Given the description of an element on the screen output the (x, y) to click on. 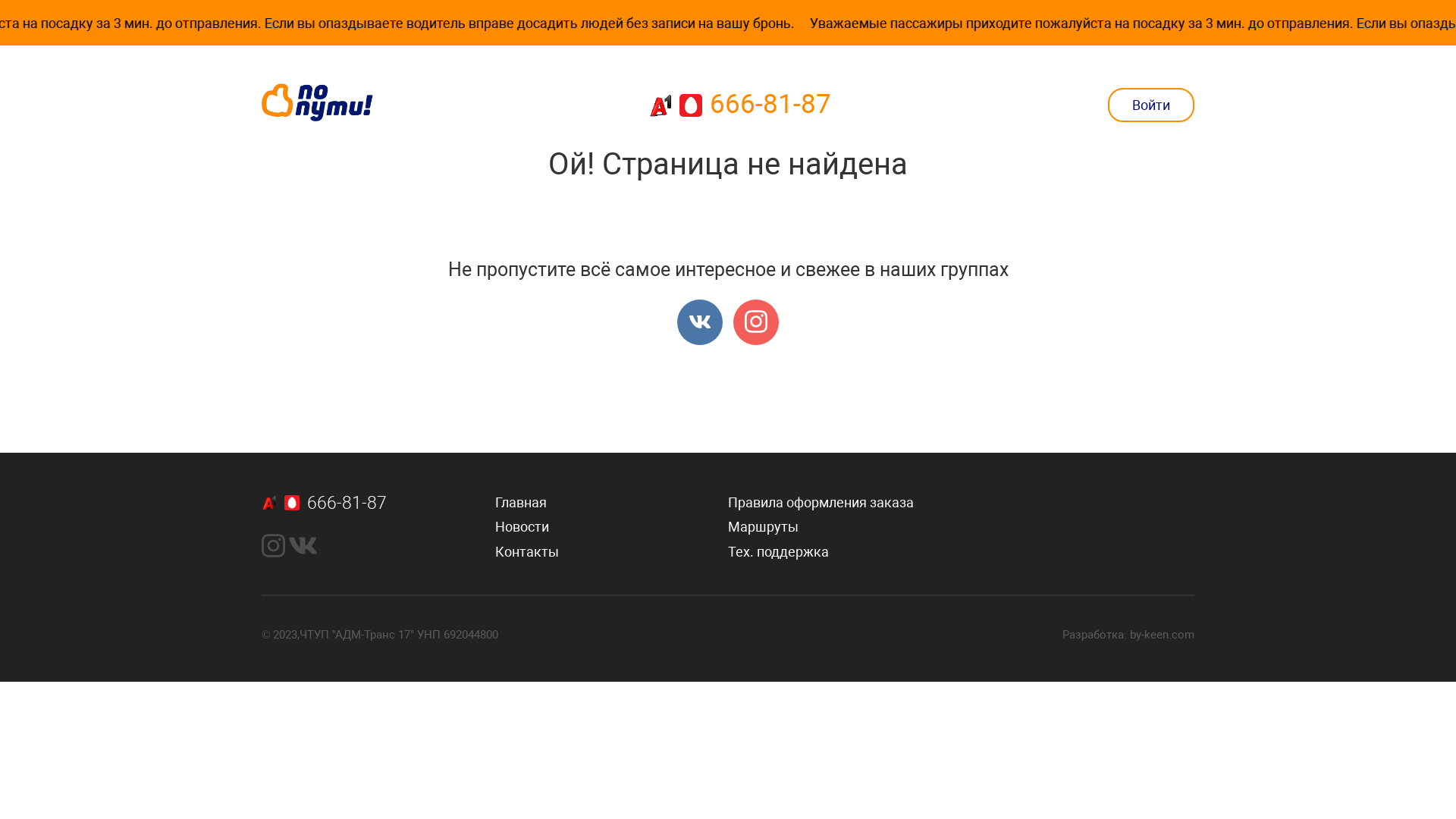
666-81-87 Element type: text (740, 104)
by-keen.com Element type: text (1161, 634)
666-81-87 Element type: text (378, 503)
